Given the description of an element on the screen output the (x, y) to click on. 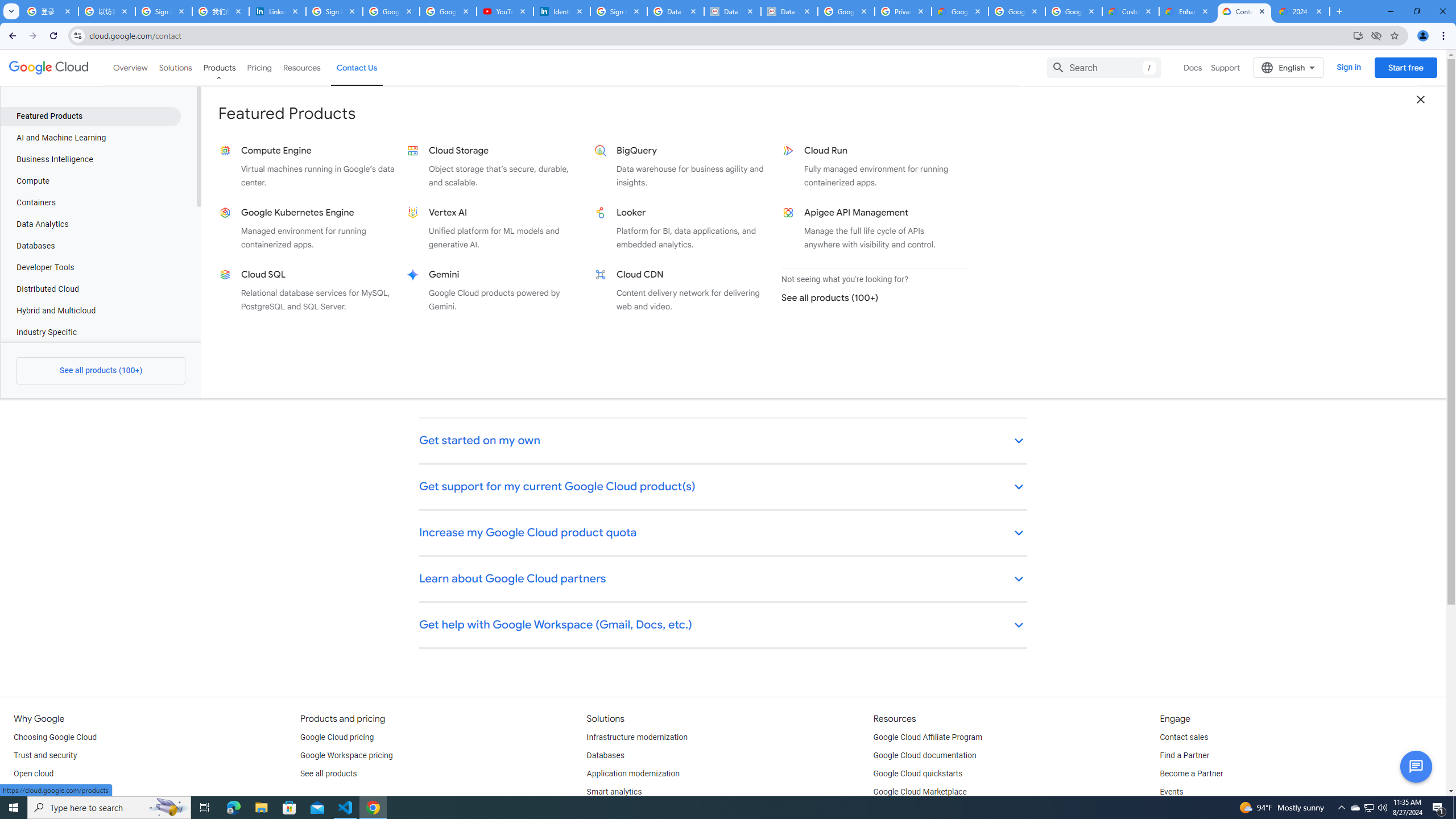
Support (1225, 67)
Application modernization (632, 773)
Google Cloud documentation (924, 755)
AI and Machine Learning (90, 138)
Google Cloud Affiliate Program (927, 737)
Customer Care | Google Cloud (1130, 11)
Talk to a Google Cloud sales specialist keyboard_arrow_up (723, 195)
Sign in - Google Accounts (163, 11)
